Given the description of an element on the screen output the (x, y) to click on. 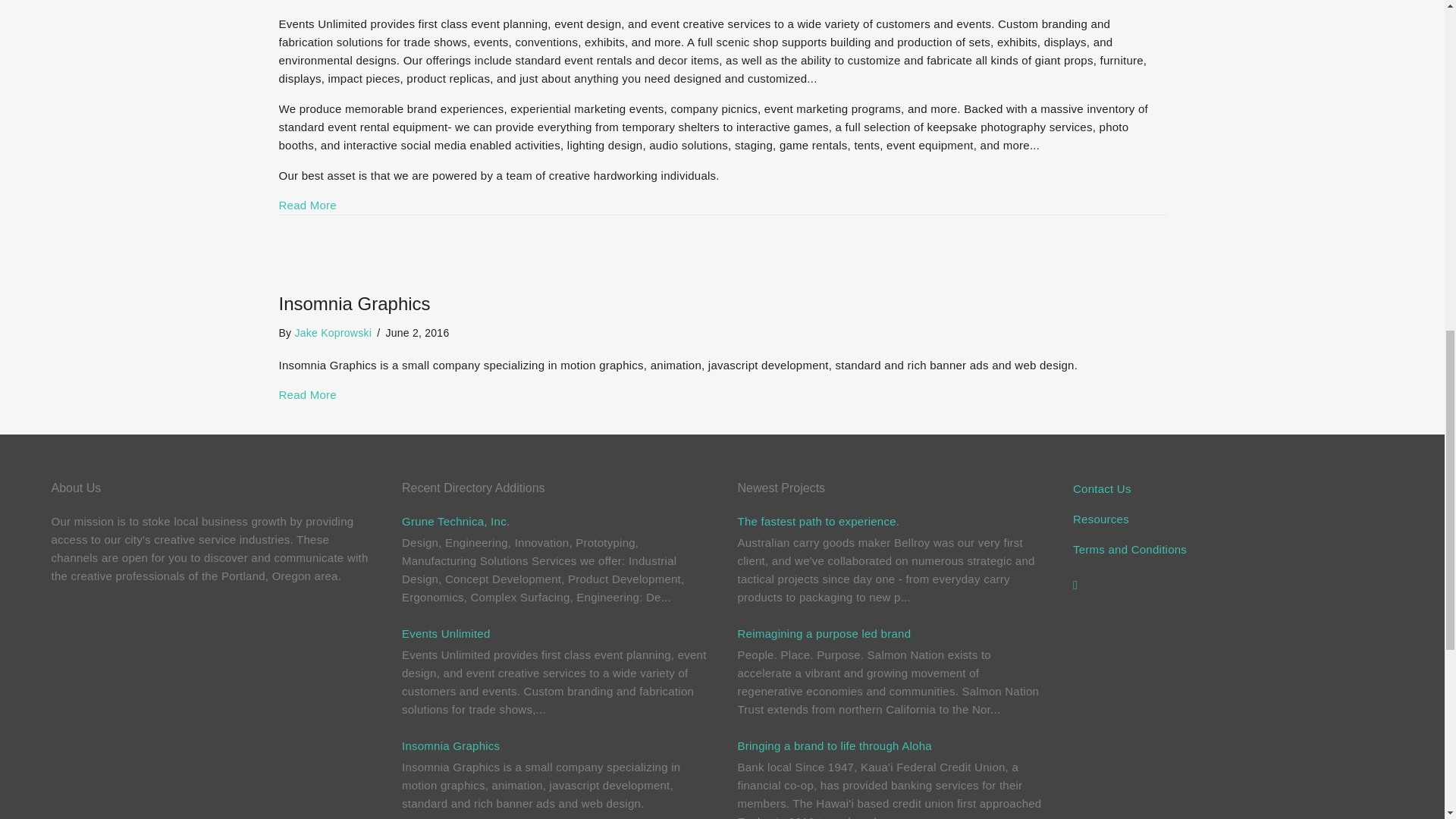
Bringing a brand to life through Aloha (833, 745)
Read More (307, 205)
The fastest path to experience. (817, 521)
Events Unlimited (445, 633)
Events Unlimited (307, 205)
Reimagining a purpose led brand (823, 633)
Reimagining a purpose led brand (823, 633)
The fastest path to experience. (817, 521)
Events Unlimited (445, 633)
Grune Technica, Inc. (455, 521)
Grune Technica, Inc. (455, 521)
Jake Koprowski (332, 332)
Read More (307, 394)
Insomnia Graphics (450, 745)
Insomnia Graphics (307, 394)
